Given the description of an element on the screen output the (x, y) to click on. 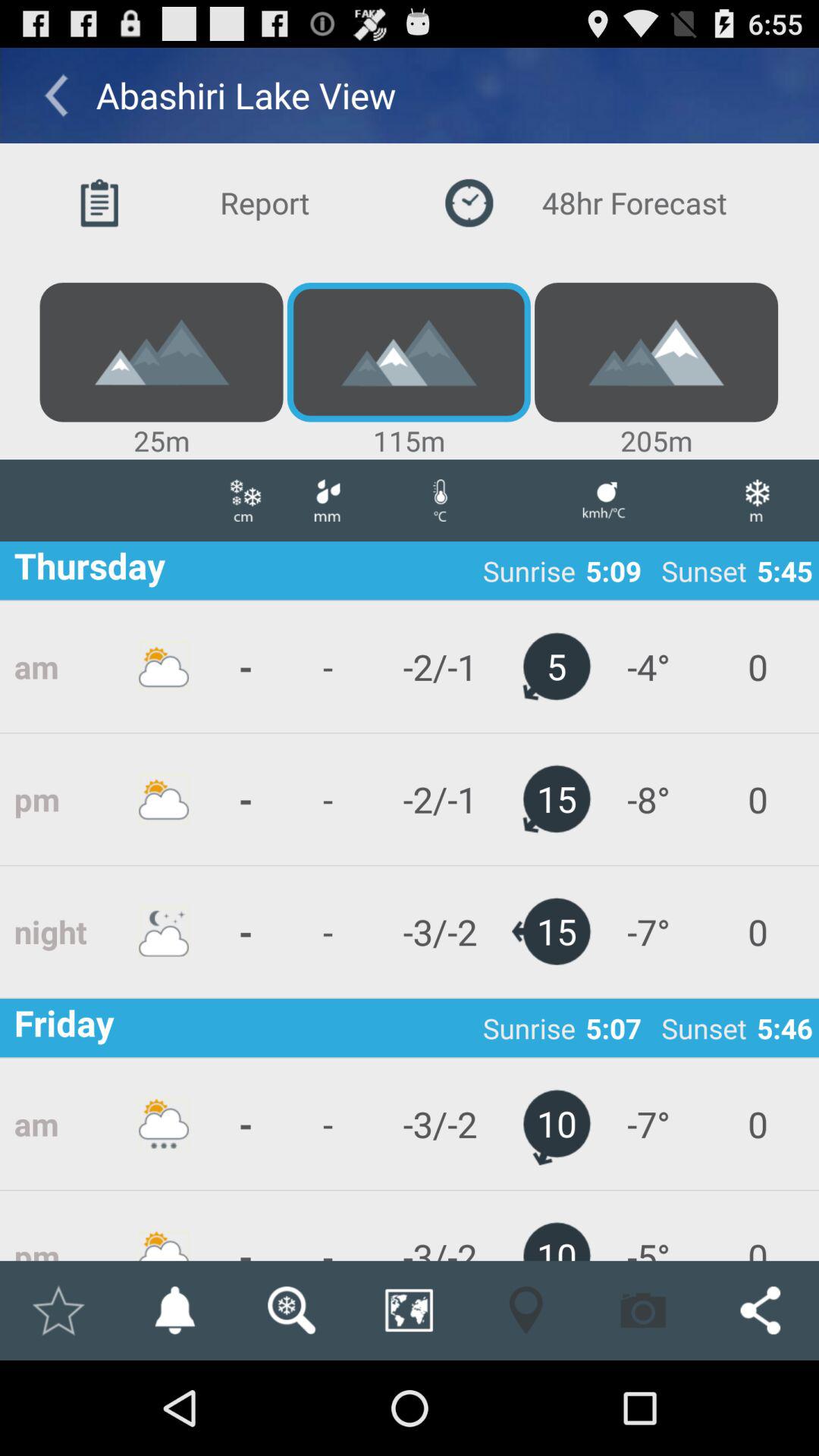
turn on item below pm app (174, 1310)
